Given the description of an element on the screen output the (x, y) to click on. 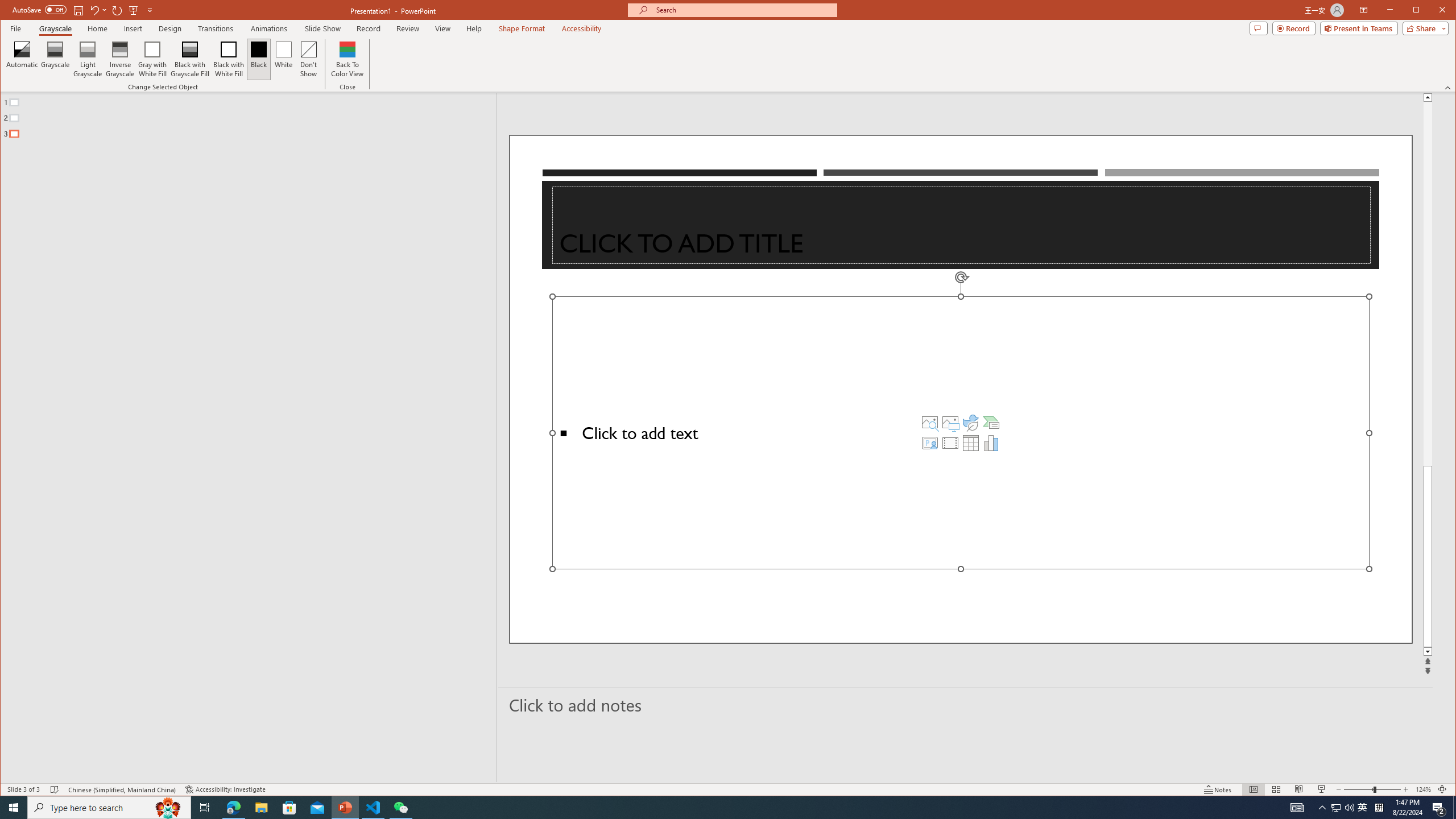
Outline (252, 115)
Spell Check No Errors (55, 789)
Close (1444, 11)
Undo (98, 9)
Notes  (1217, 789)
White (283, 59)
Slide Show (322, 28)
Microsoft search (742, 10)
Slide Show (1321, 789)
Grayscale (55, 28)
Microsoft Edge - 1 running window (233, 807)
Help (473, 28)
Notification Chevron (1322, 807)
More Options (105, 9)
